Given the description of an element on the screen output the (x, y) to click on. 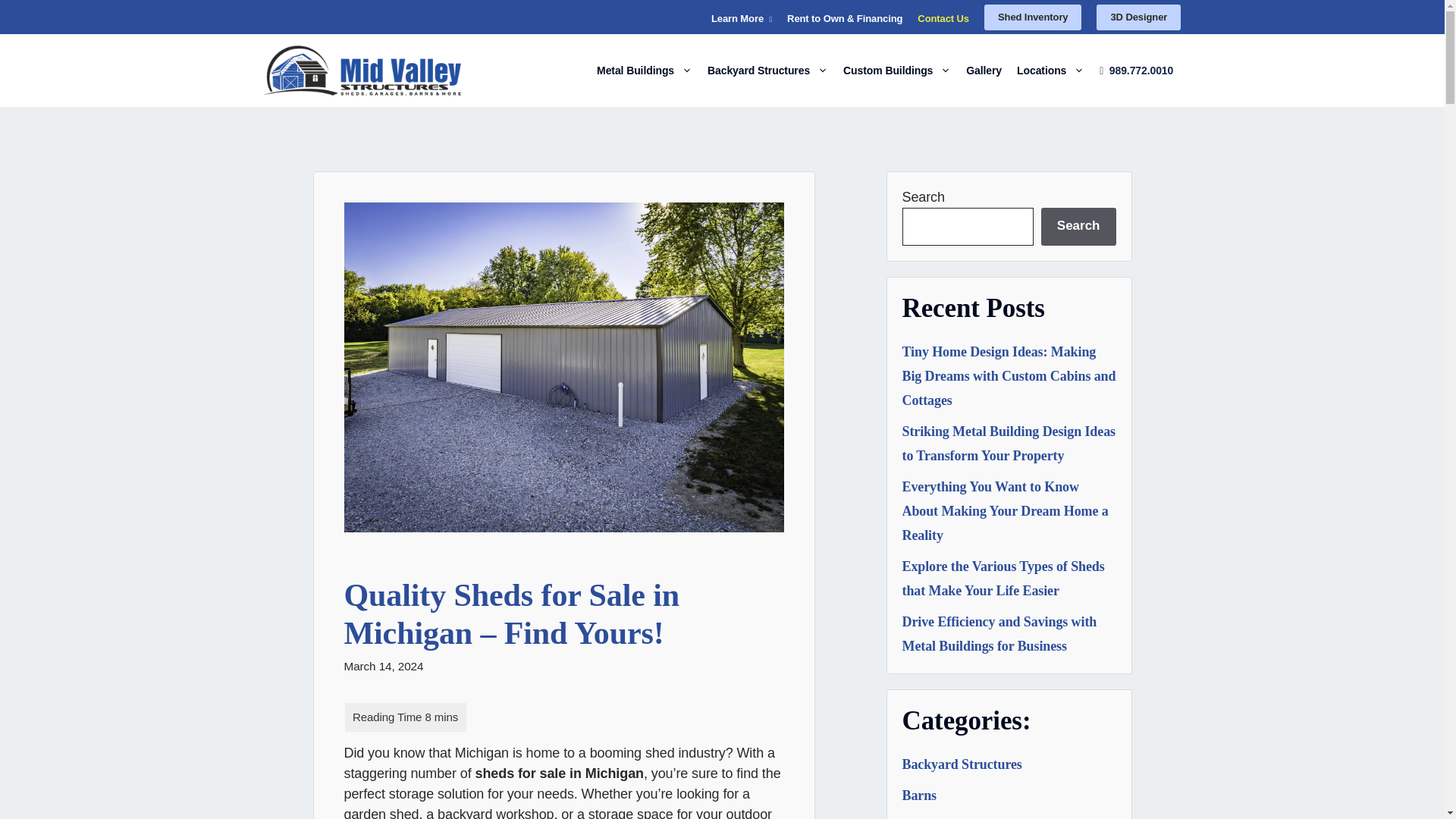
Contact Us (943, 17)
3D Designer (1138, 17)
Locations (1050, 70)
Gallery (983, 70)
Custom Buildings (896, 70)
Learn More (741, 17)
Shed Inventory (1032, 17)
Backyard Structures (767, 70)
Metal Buildings (644, 70)
